Given the description of an element on the screen output the (x, y) to click on. 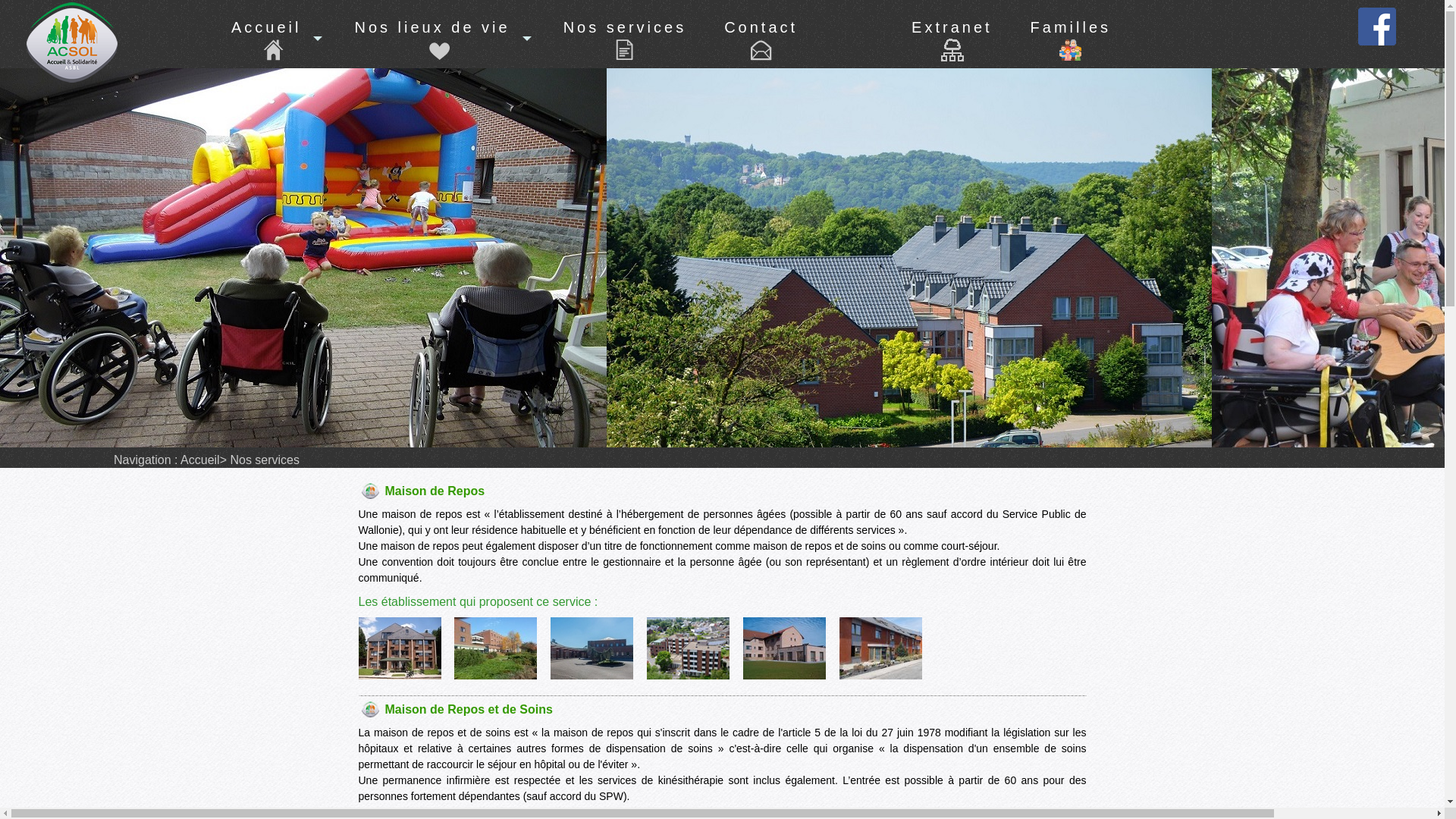
Nos services Element type: text (262, 459)
Accueil Element type: text (199, 459)
Accueil Element type: text (273, 49)
Contact Element type: text (760, 49)
Nos lieux de vie Element type: text (439, 49)
Nos services Element type: text (624, 49)
Familles Element type: text (1070, 34)
Extranet Element type: text (951, 34)
